Given the description of an element on the screen output the (x, y) to click on. 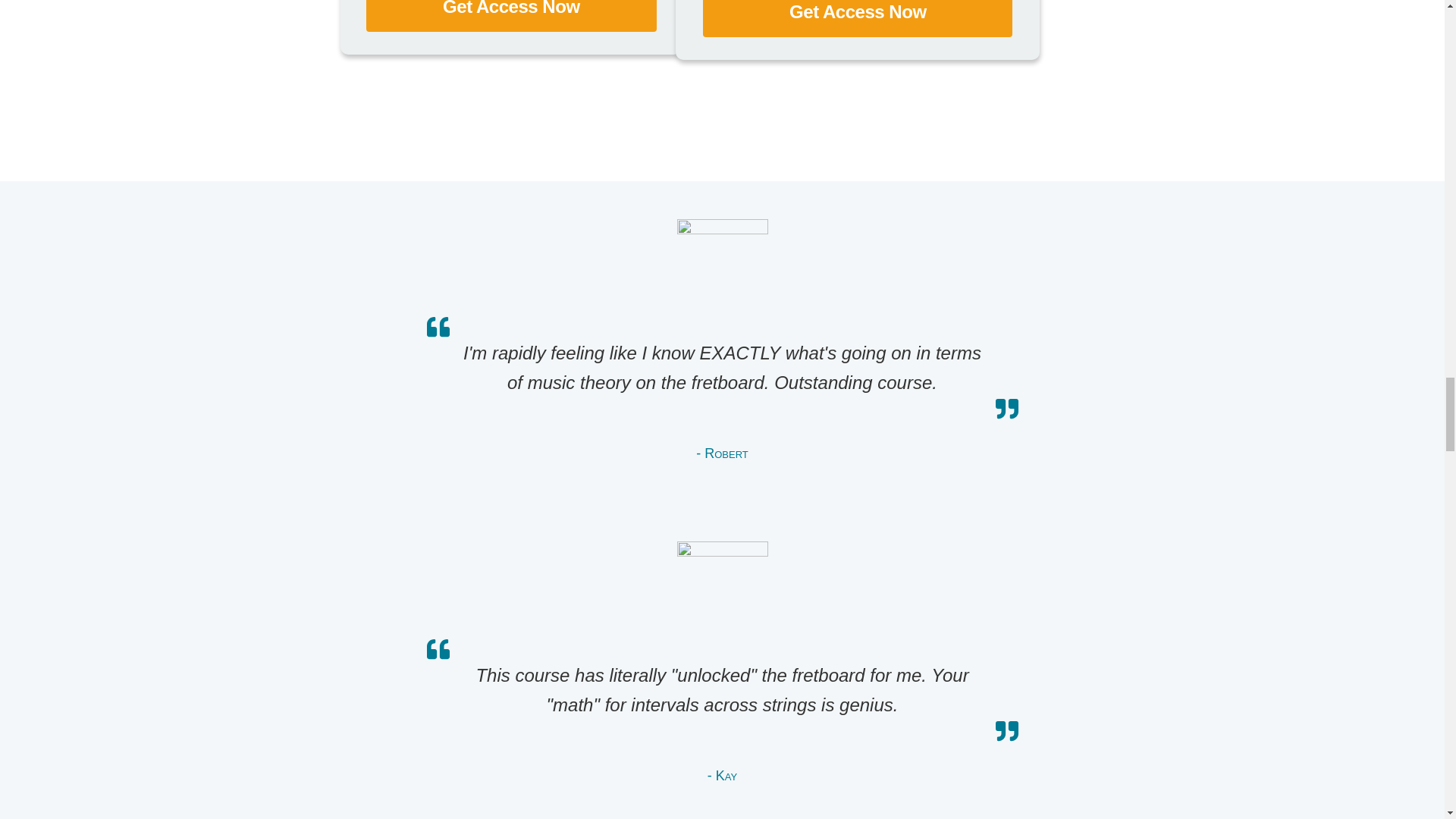
Get Access Now (511, 15)
Get Access Now (857, 18)
